Given the description of an element on the screen output the (x, y) to click on. 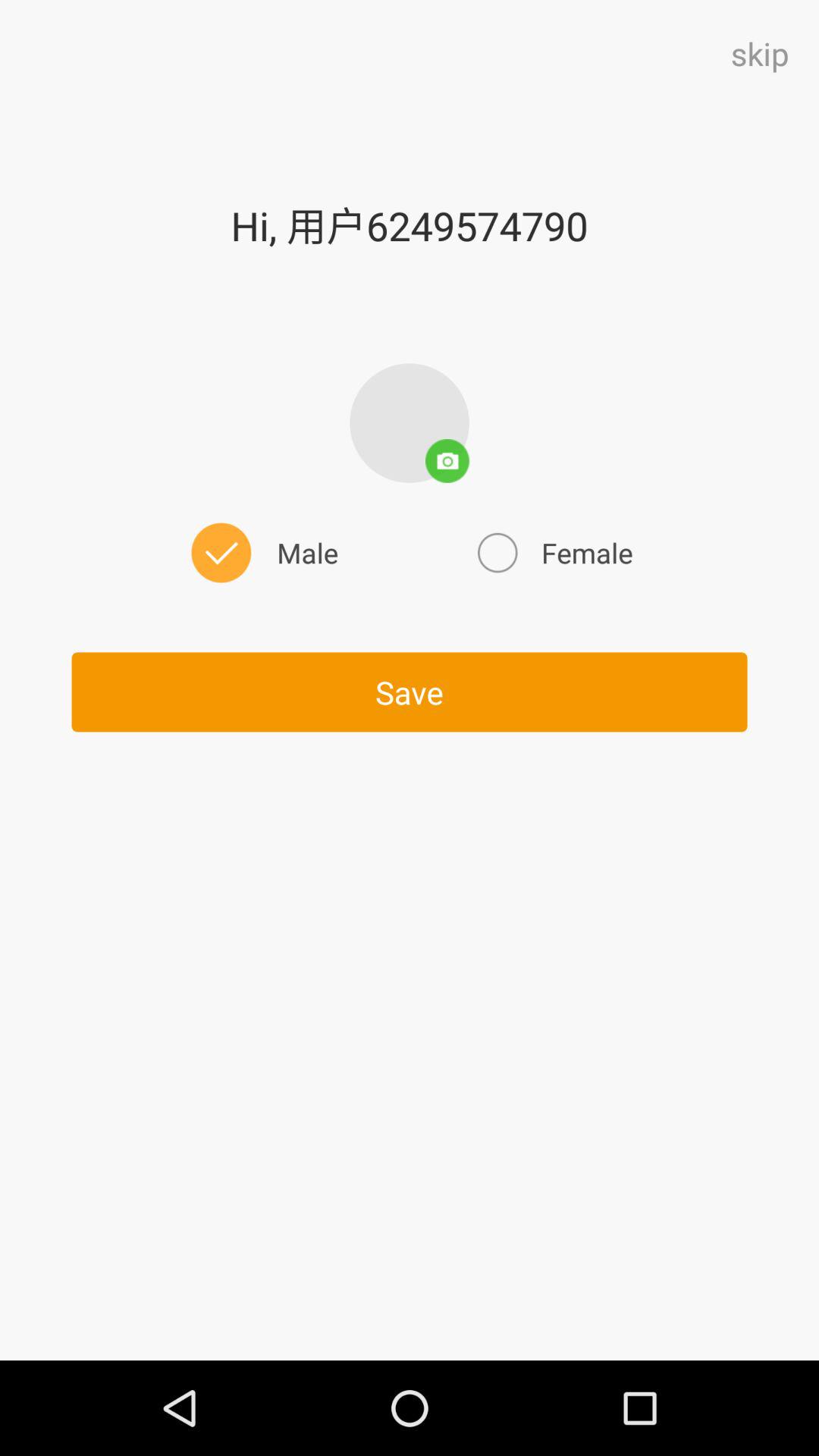
select the item next to the male (553, 552)
